Given the description of an element on the screen output the (x, y) to click on. 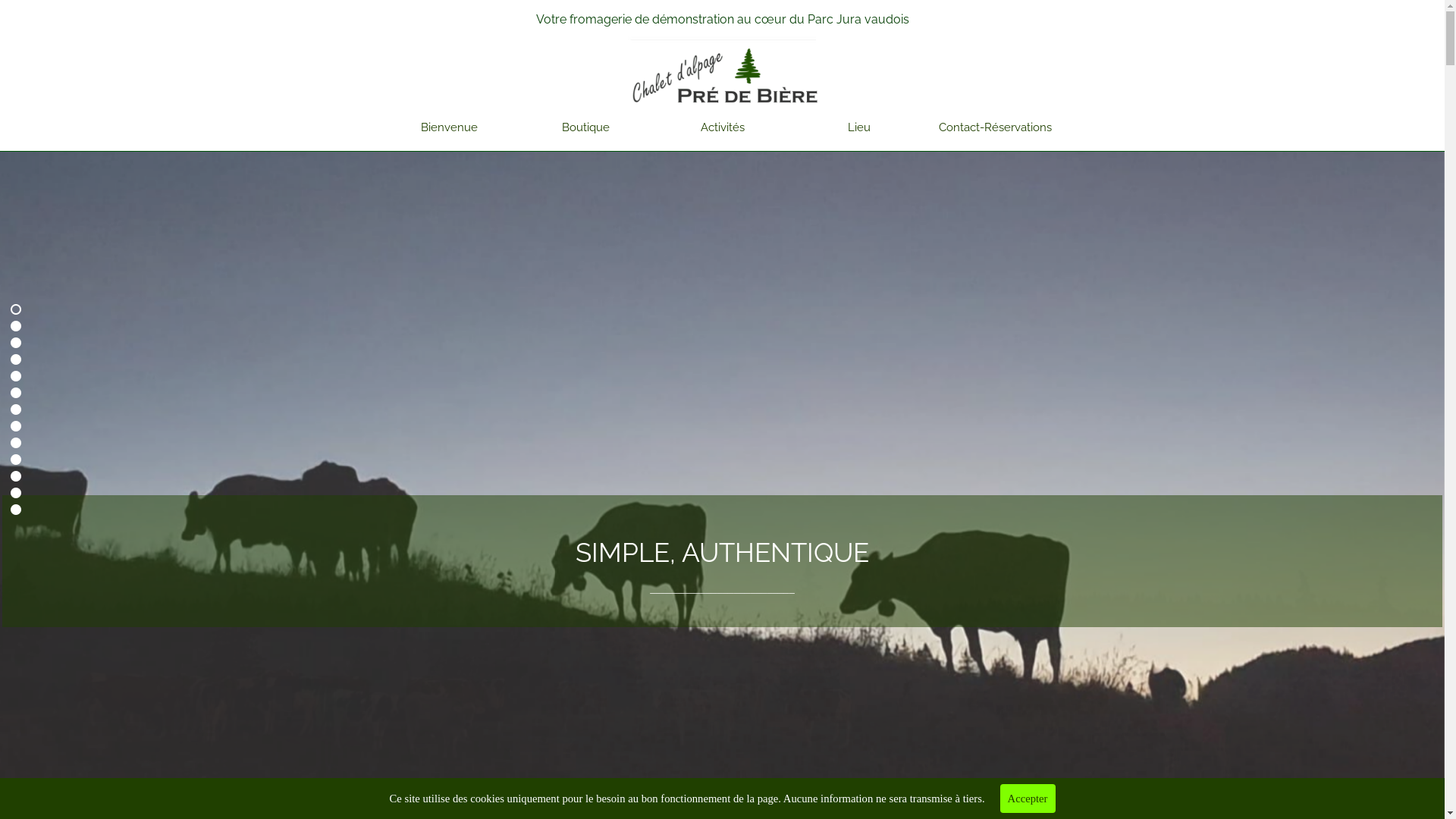
underline pdb Element type: hover (722, 39)
Boutique Element type: text (586, 126)
Lieu Element type: text (859, 126)
Bienvenue Element type: text (449, 126)
